Given the description of an element on the screen output the (x, y) to click on. 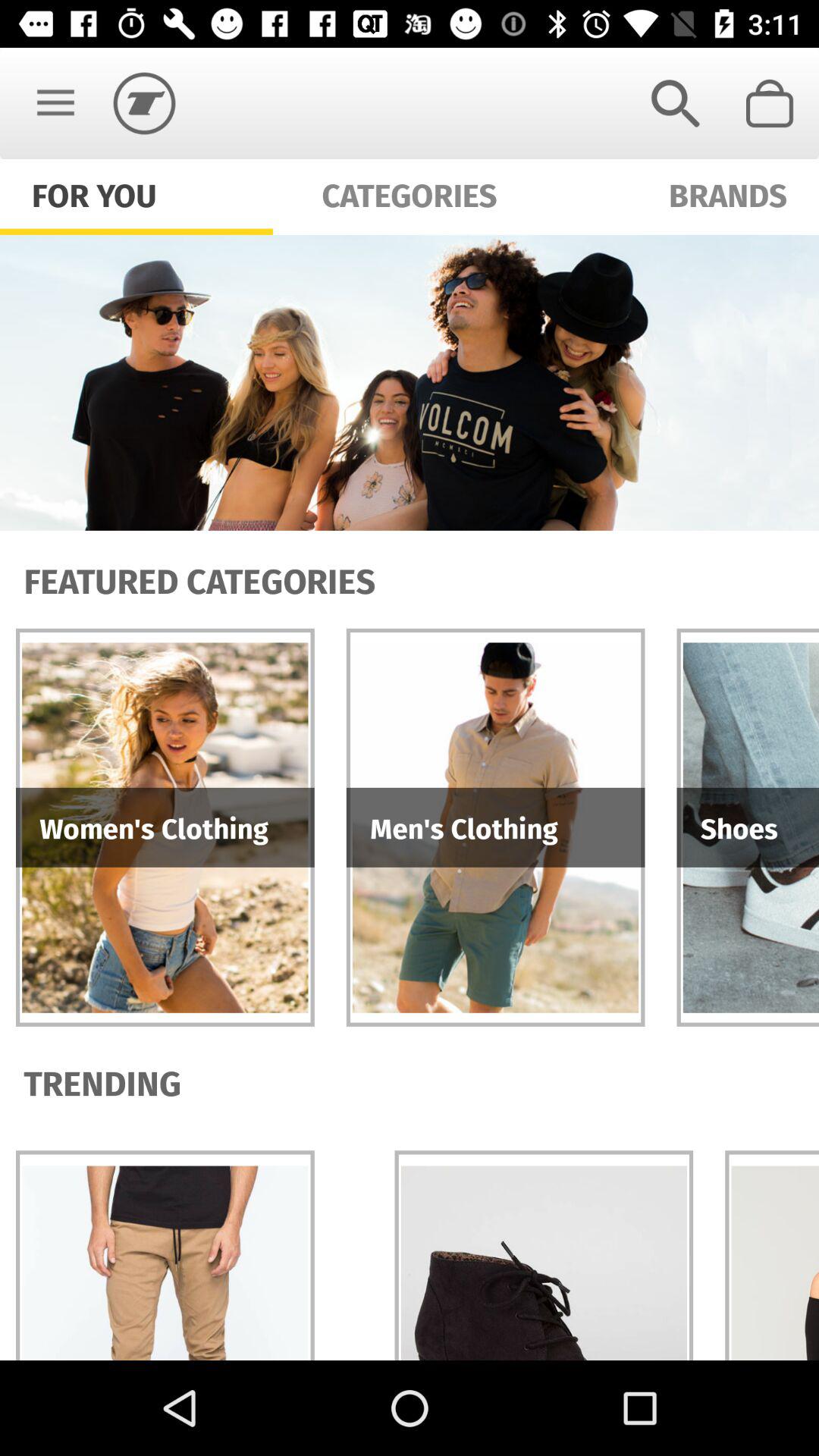
click the item above for you icon (55, 103)
